Given the description of an element on the screen output the (x, y) to click on. 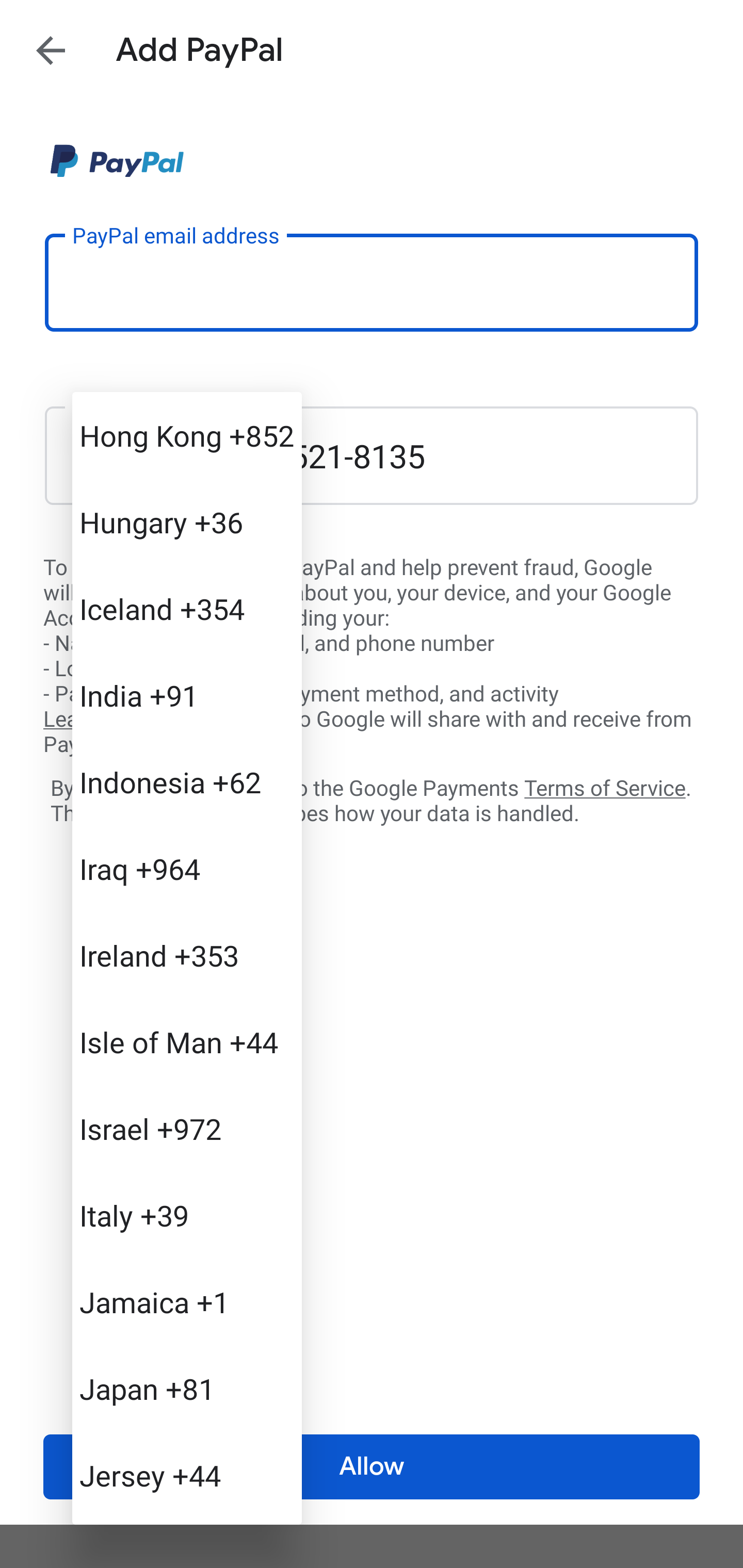
Hong Kong +852 (186, 435)
Hungary +36 (186, 522)
Iceland +354 (186, 609)
India +91 (186, 695)
Indonesia +62 (186, 781)
Iraq +964 (186, 868)
Ireland +353 (186, 955)
Isle of Man +44 (186, 1041)
Israel +972 (186, 1128)
Italy +39 (186, 1215)
Jamaica +1 (186, 1302)
Japan +81 (186, 1388)
Jersey +44 (186, 1474)
